Given the description of an element on the screen output the (x, y) to click on. 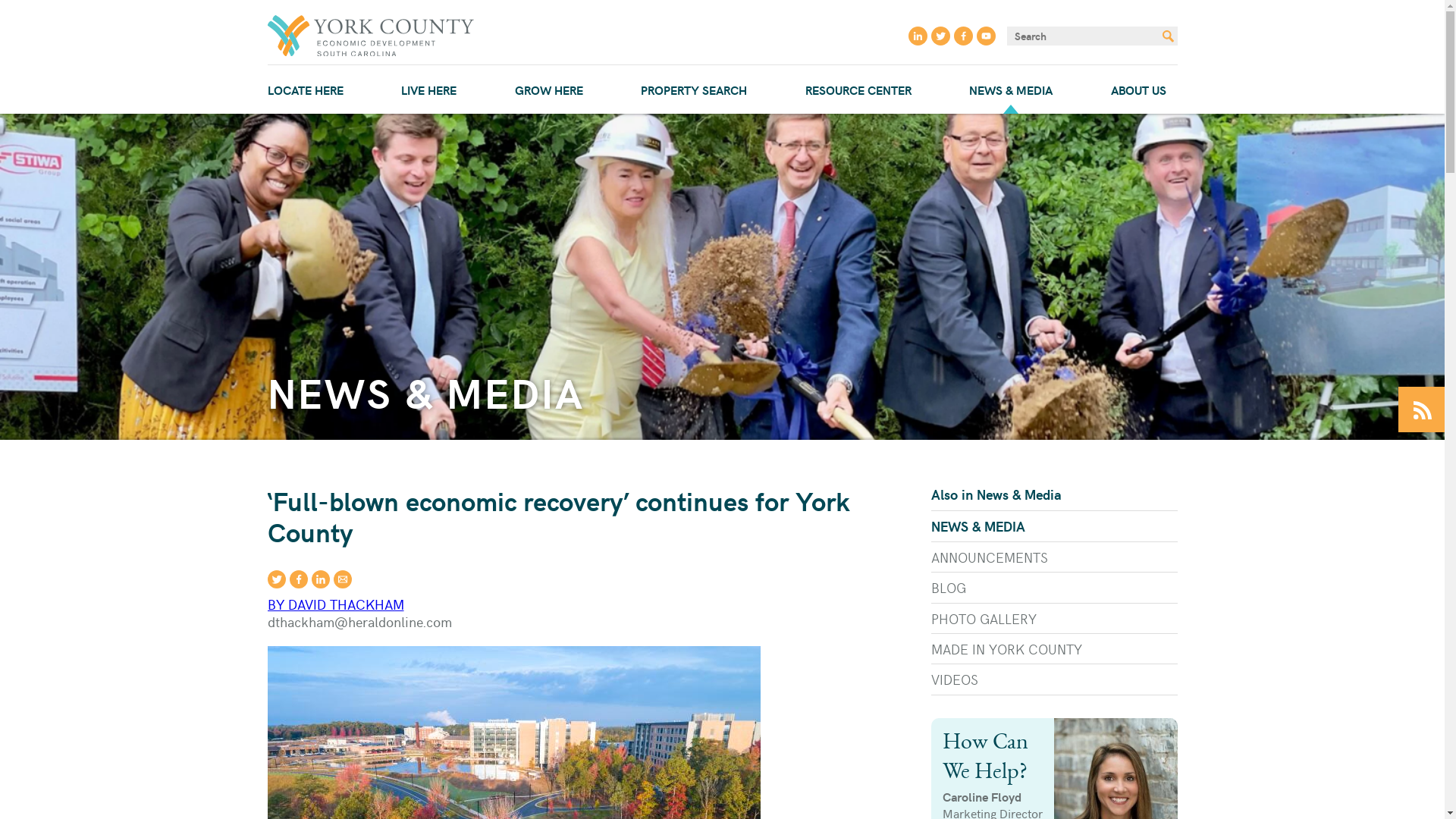
Share on Email (342, 579)
LIVE HERE (428, 89)
LOCATE HERE (305, 89)
Share on Twitter (275, 579)
Share on Linkedin (320, 579)
Share on Facebook (298, 579)
